Given the description of an element on the screen output the (x, y) to click on. 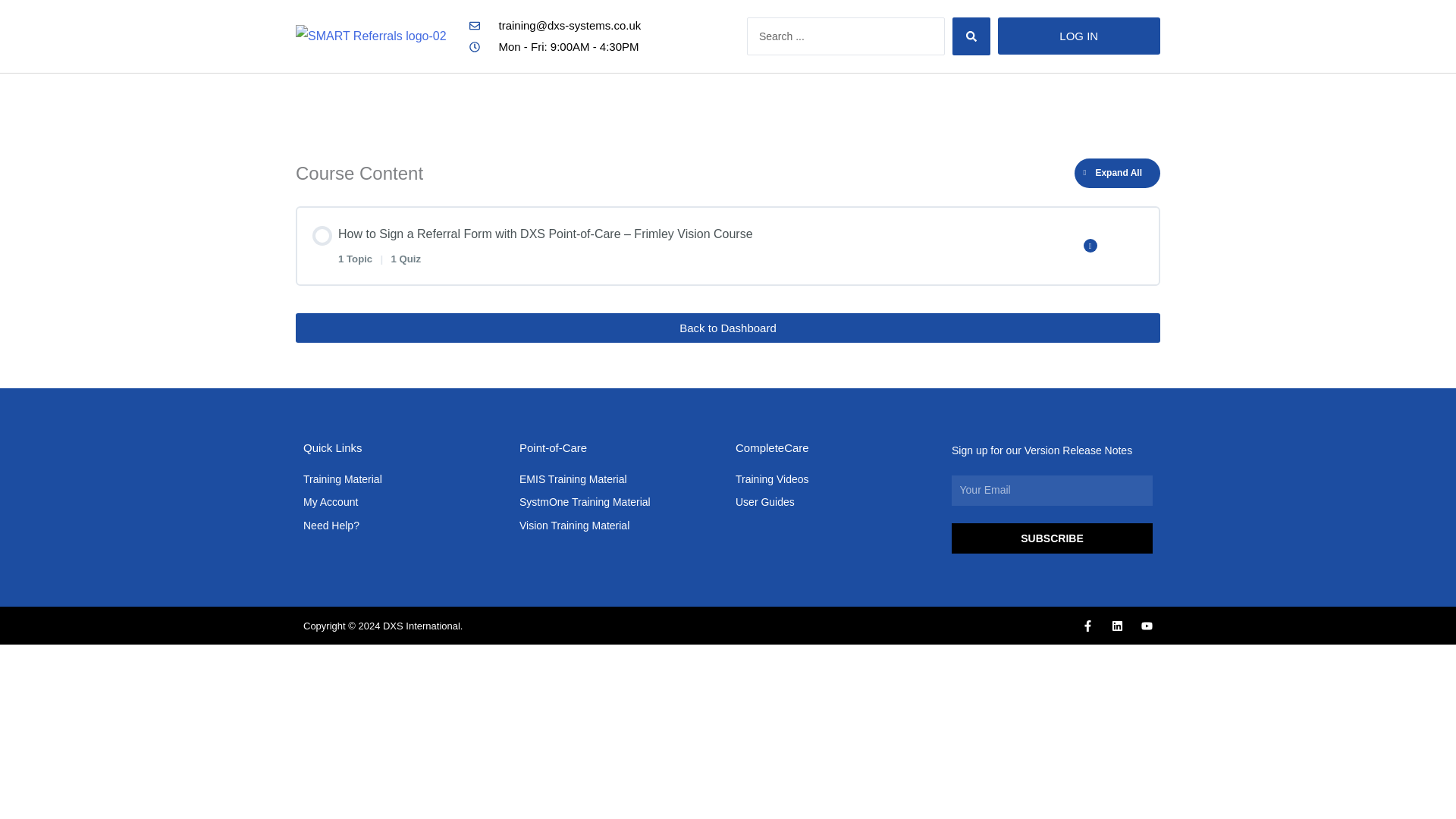
Training Material (402, 479)
User Guides (835, 502)
EMIS Training Material (619, 479)
Youtube (1147, 625)
SUBSCRIBE (1052, 538)
SMART Referrals logo-02 (370, 36)
Training Videos (835, 479)
Vision Training Material (619, 526)
Facebook-f (1087, 625)
LOG IN (1078, 35)
